Given the description of an element on the screen output the (x, y) to click on. 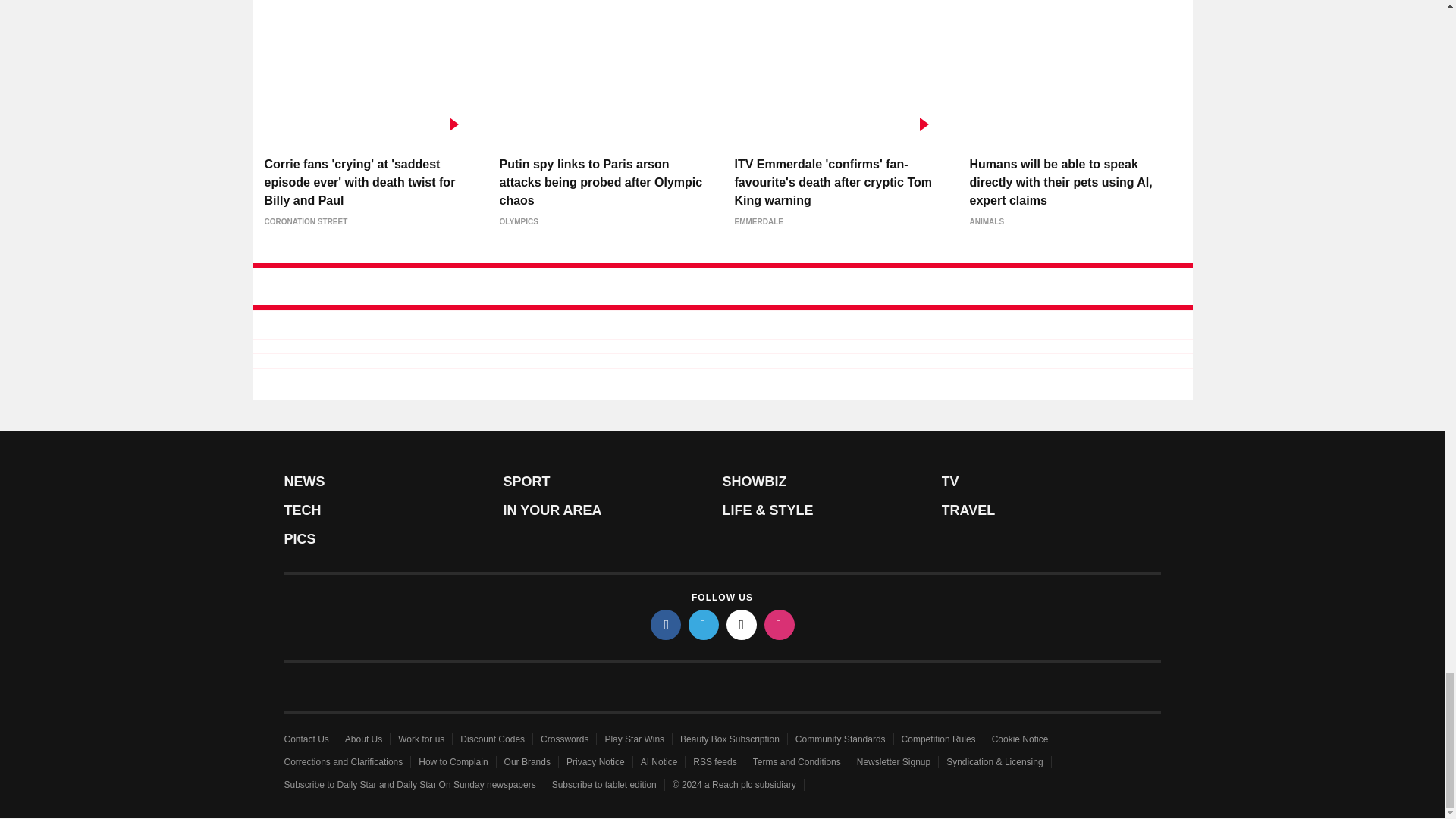
twitter (703, 624)
facebook (665, 624)
tiktok (741, 624)
instagram (779, 624)
